Given the description of an element on the screen output the (x, y) to click on. 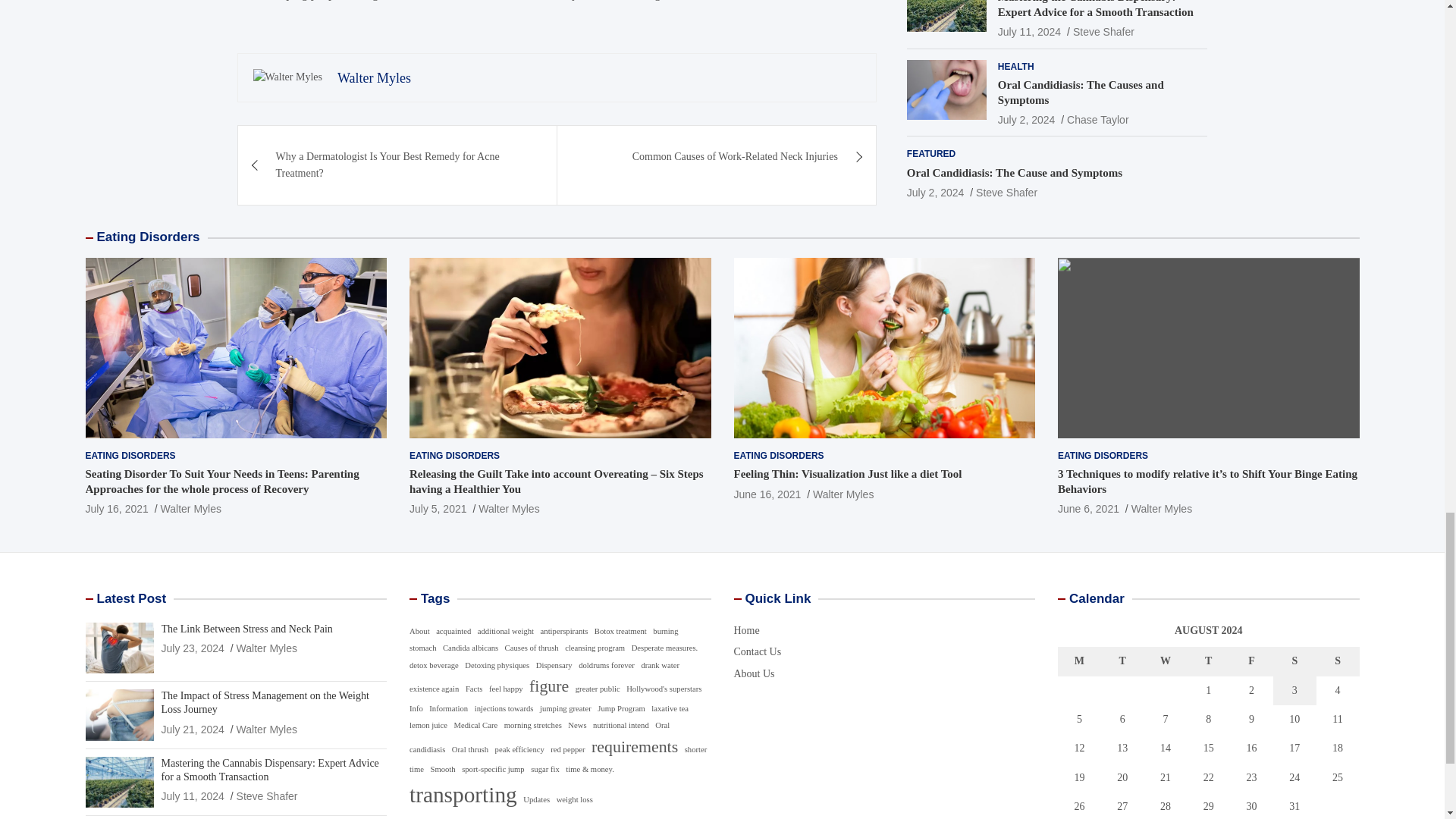
Common Causes of Work-Related Neck Injuries (716, 157)
Walter Myles (373, 77)
Feeling Thin: Visualization Just like a diet Tool (767, 494)
The Impact of Stress Management on the Weight Loss Journey (192, 729)
The Link Between Stress and Neck Pain (192, 648)
Why a Dermatologist Is Your Best Remedy for Acne Treatment? (397, 165)
